Given the description of an element on the screen output the (x, y) to click on. 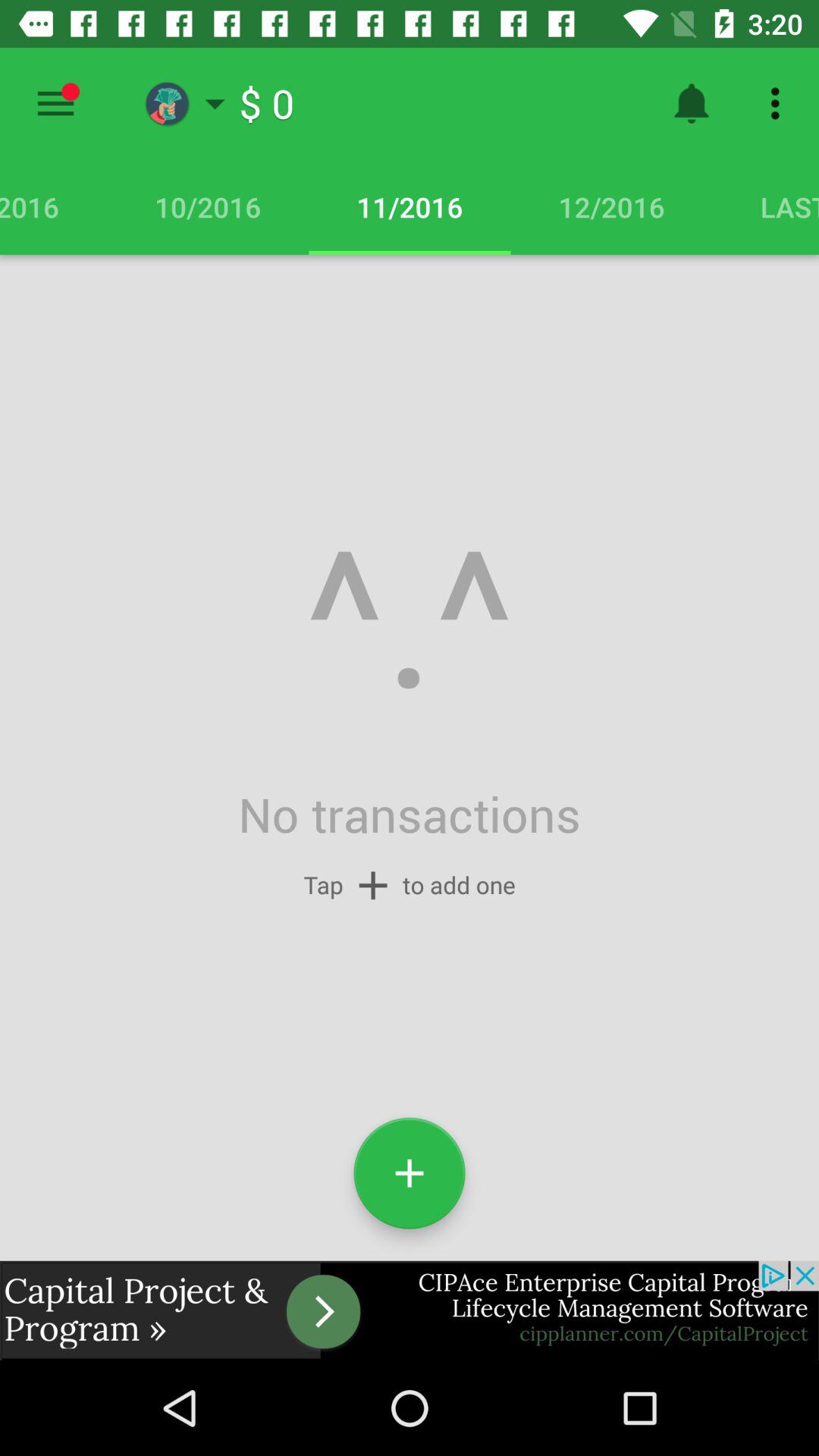
advertisement display screen (409, 1310)
